Given the description of an element on the screen output the (x, y) to click on. 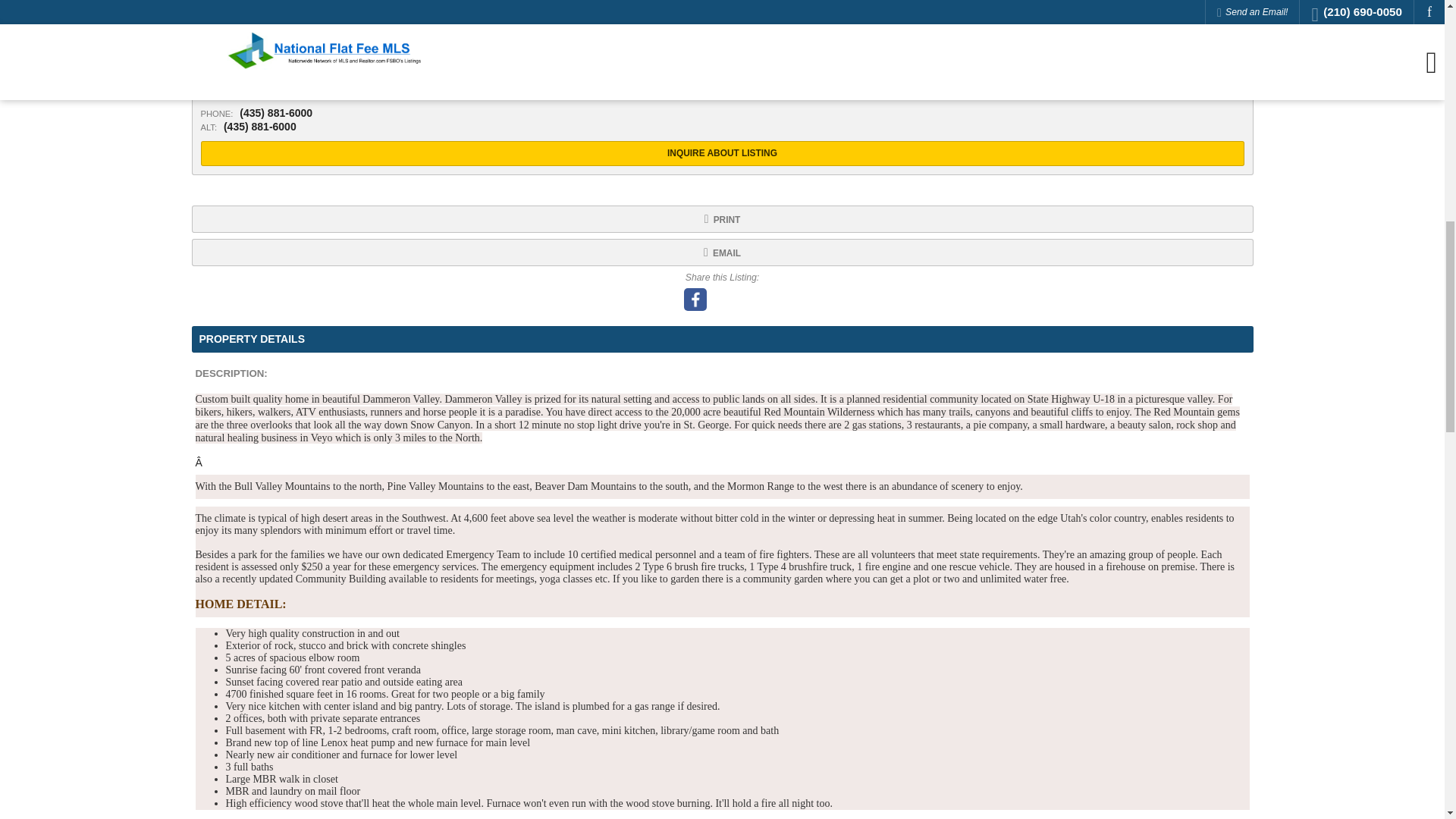
Email Listing (721, 252)
INQUIRE ABOUT LISTING (721, 153)
Print Listing (721, 218)
Inquire About Listing (721, 153)
EMAIL (721, 252)
PRINT (721, 218)
